Given the description of an element on the screen output the (x, y) to click on. 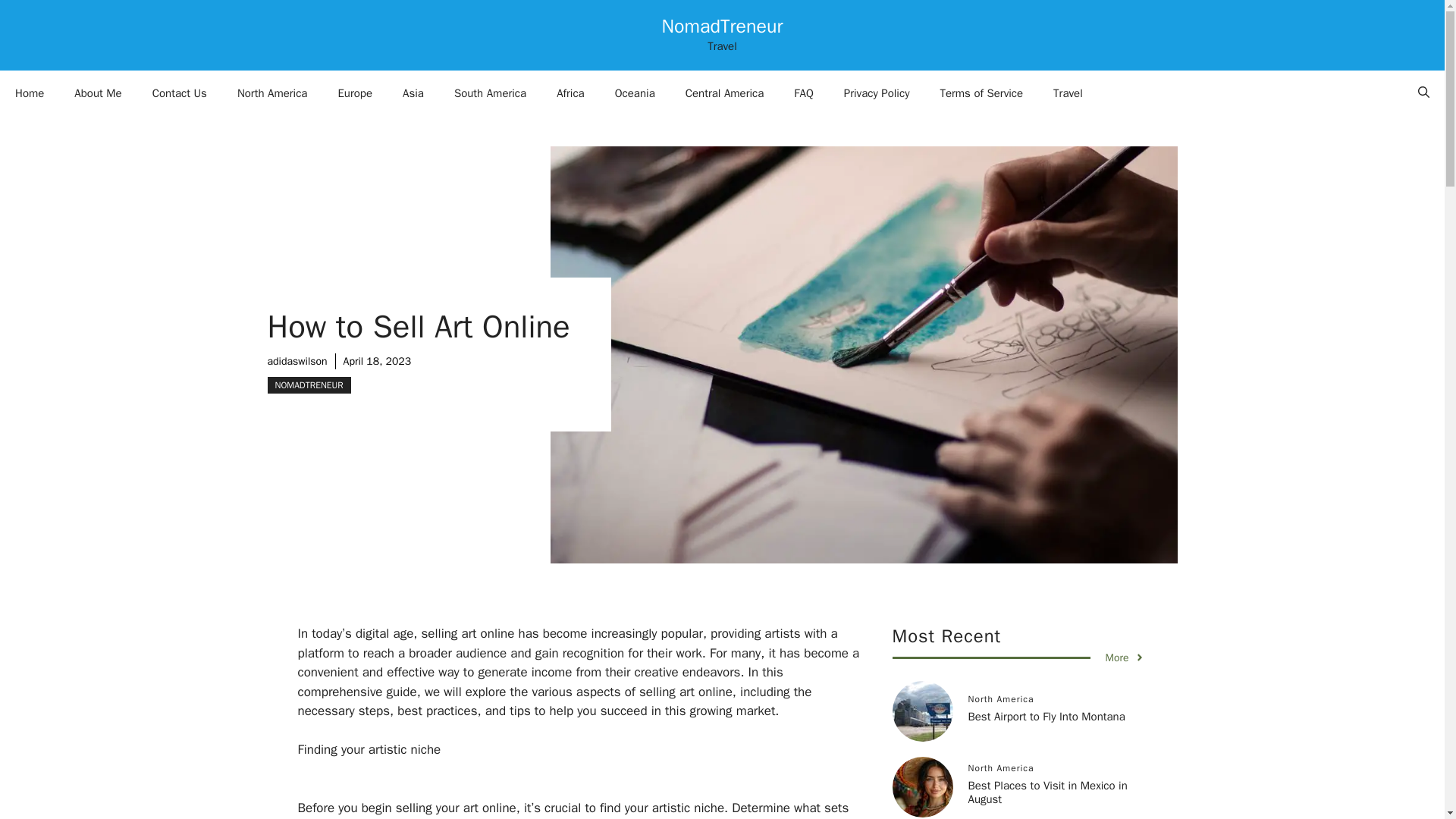
NomadTreneur (722, 25)
Best Airport to Fly Into Montana (1046, 716)
Best Places to Visit in Mexico in August (1047, 791)
Africa (570, 92)
FAQ (803, 92)
Oceania (634, 92)
South America (490, 92)
More (1124, 657)
North America (272, 92)
NOMADTRENEUR (308, 384)
Asia (413, 92)
adidaswilson (296, 360)
Europe (354, 92)
Travel (1067, 92)
Contact Us (179, 92)
